Given the description of an element on the screen output the (x, y) to click on. 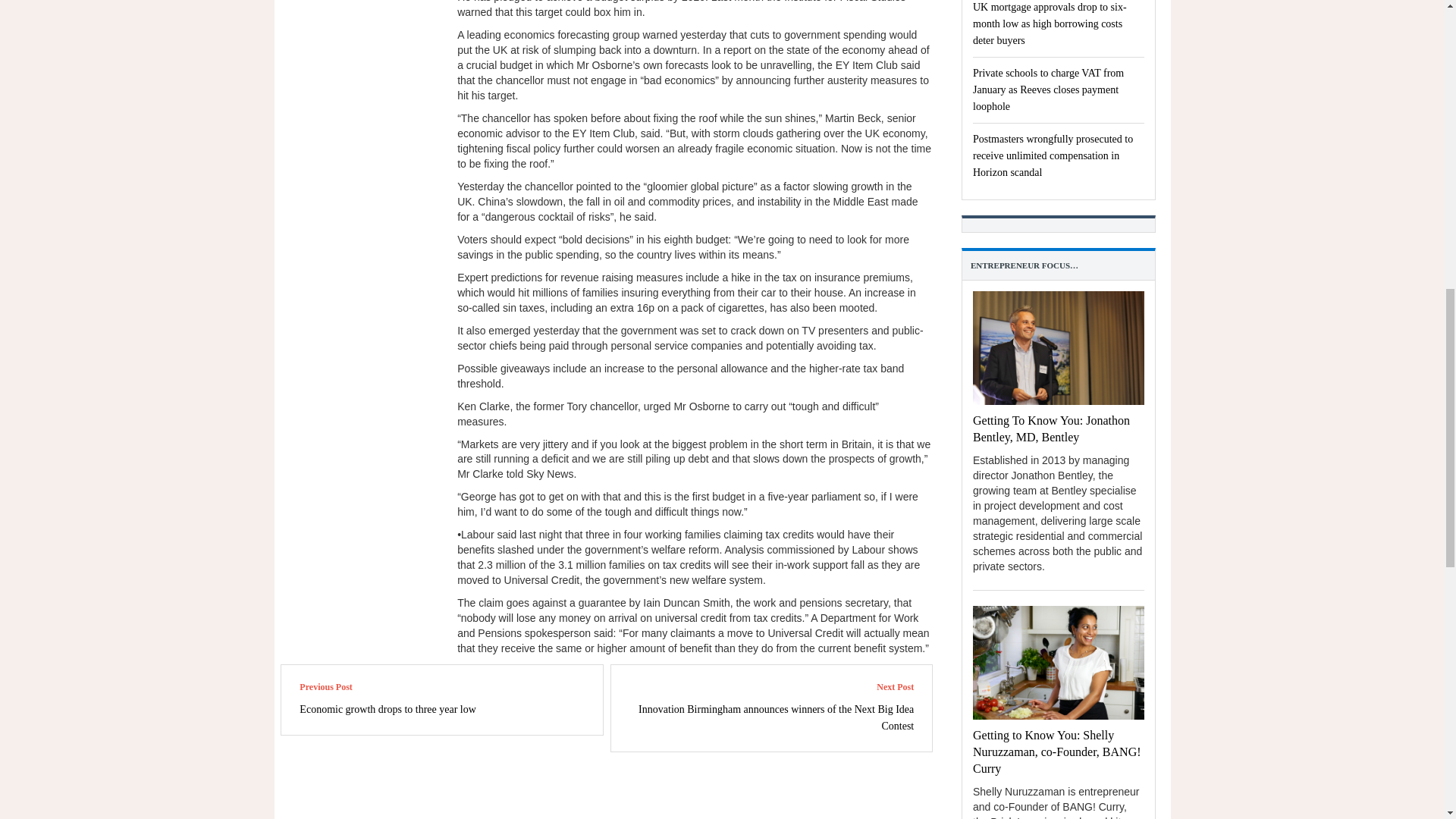
Economic growth drops to three year low (387, 708)
